Given the description of an element on the screen output the (x, y) to click on. 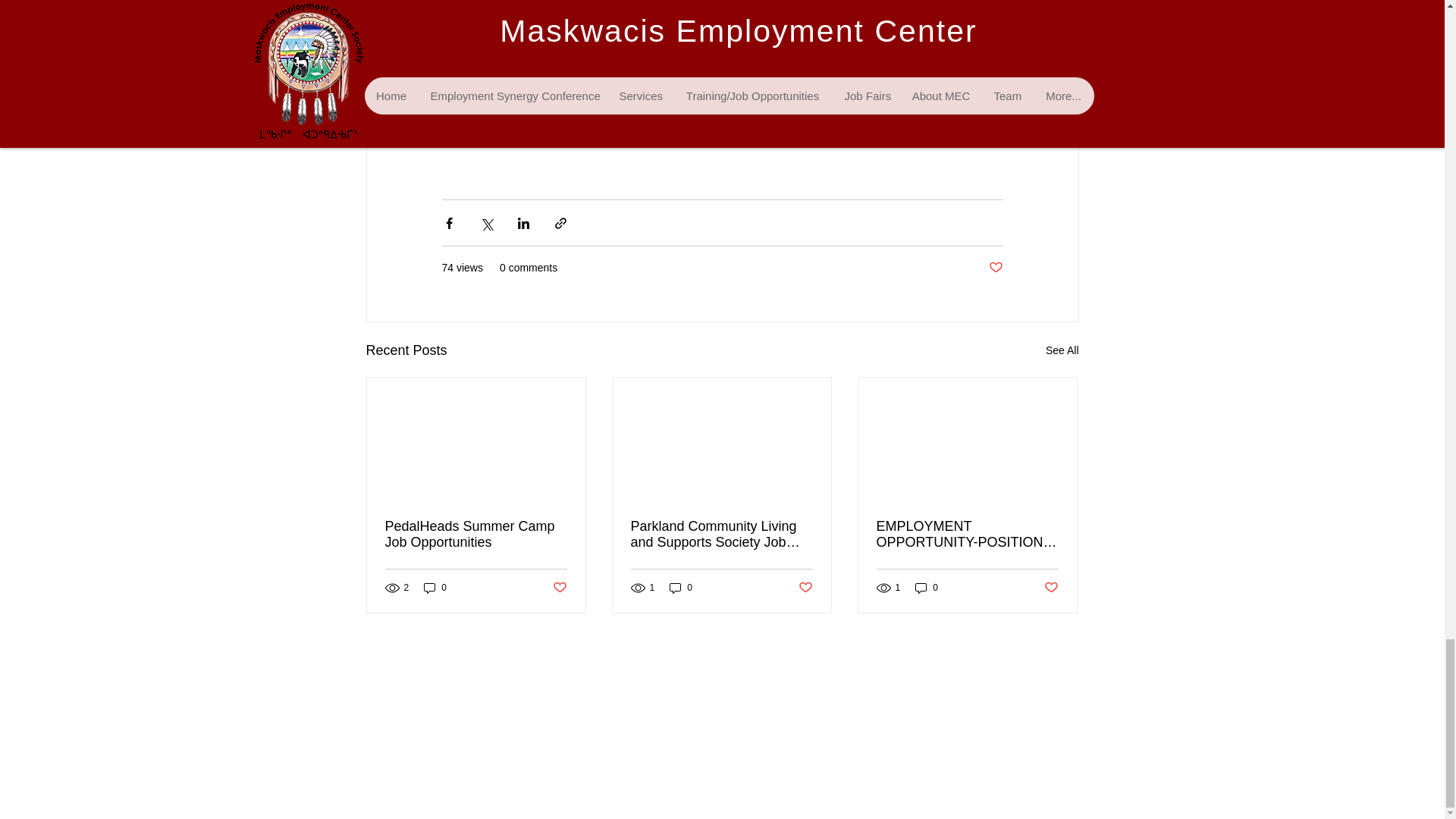
0 (926, 587)
Post not marked as liked (995, 268)
PedalHeads Summer Camp Job Opportunities (476, 534)
Post not marked as liked (558, 587)
0 (681, 587)
Post not marked as liked (804, 587)
Post not marked as liked (1050, 587)
0 (435, 587)
See All (1061, 350)
